Given the description of an element on the screen output the (x, y) to click on. 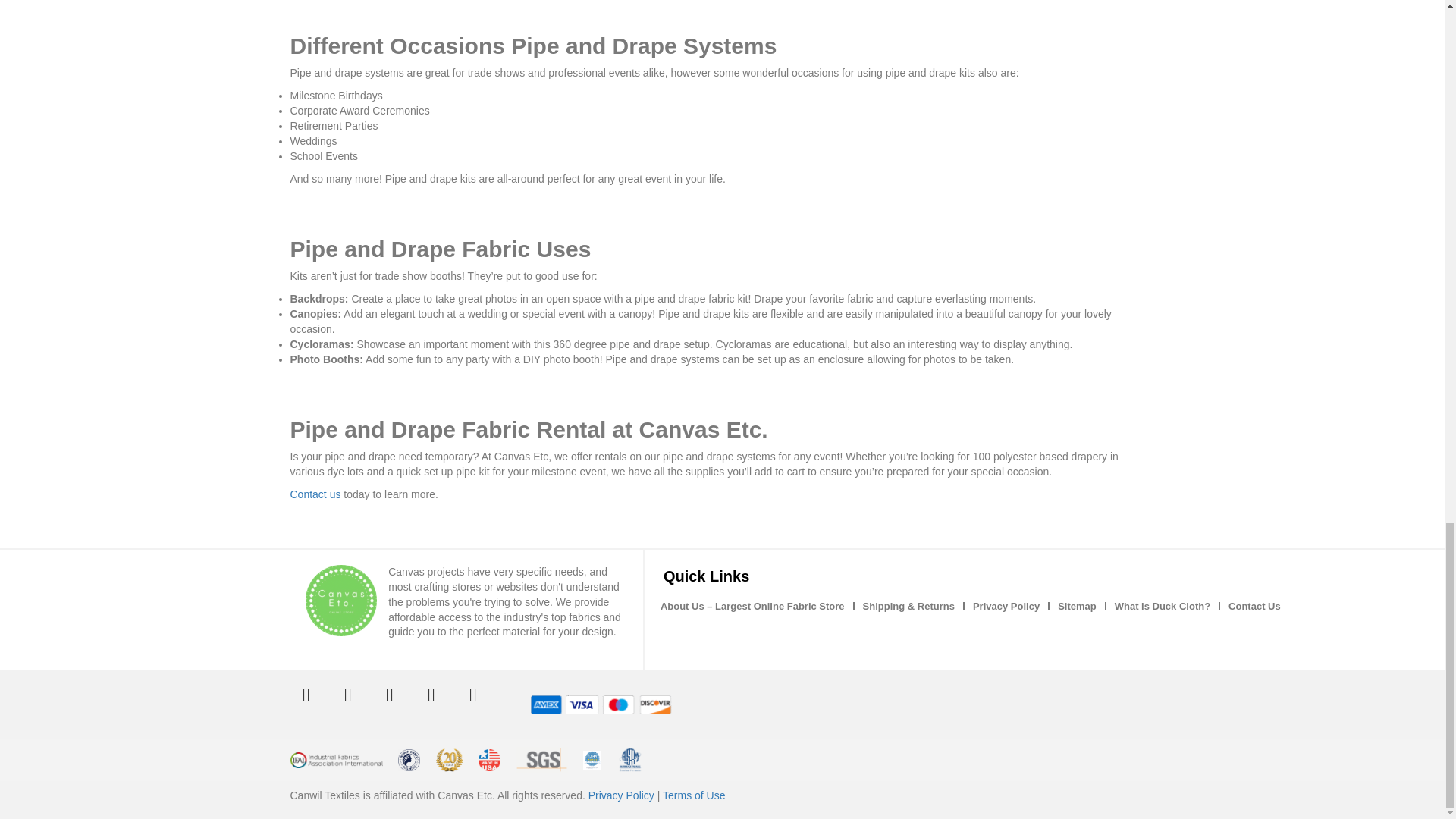
shipping and returns (908, 606)
Contact Us (1254, 606)
Contact us (314, 494)
Terms of Use (693, 795)
What is Duck Cloth? (1162, 606)
privacy policy (1005, 606)
Sitemap (1077, 606)
Contract us (1254, 606)
What is cotton duck fabric (1162, 606)
About Us (752, 606)
